Given the description of an element on the screen output the (x, y) to click on. 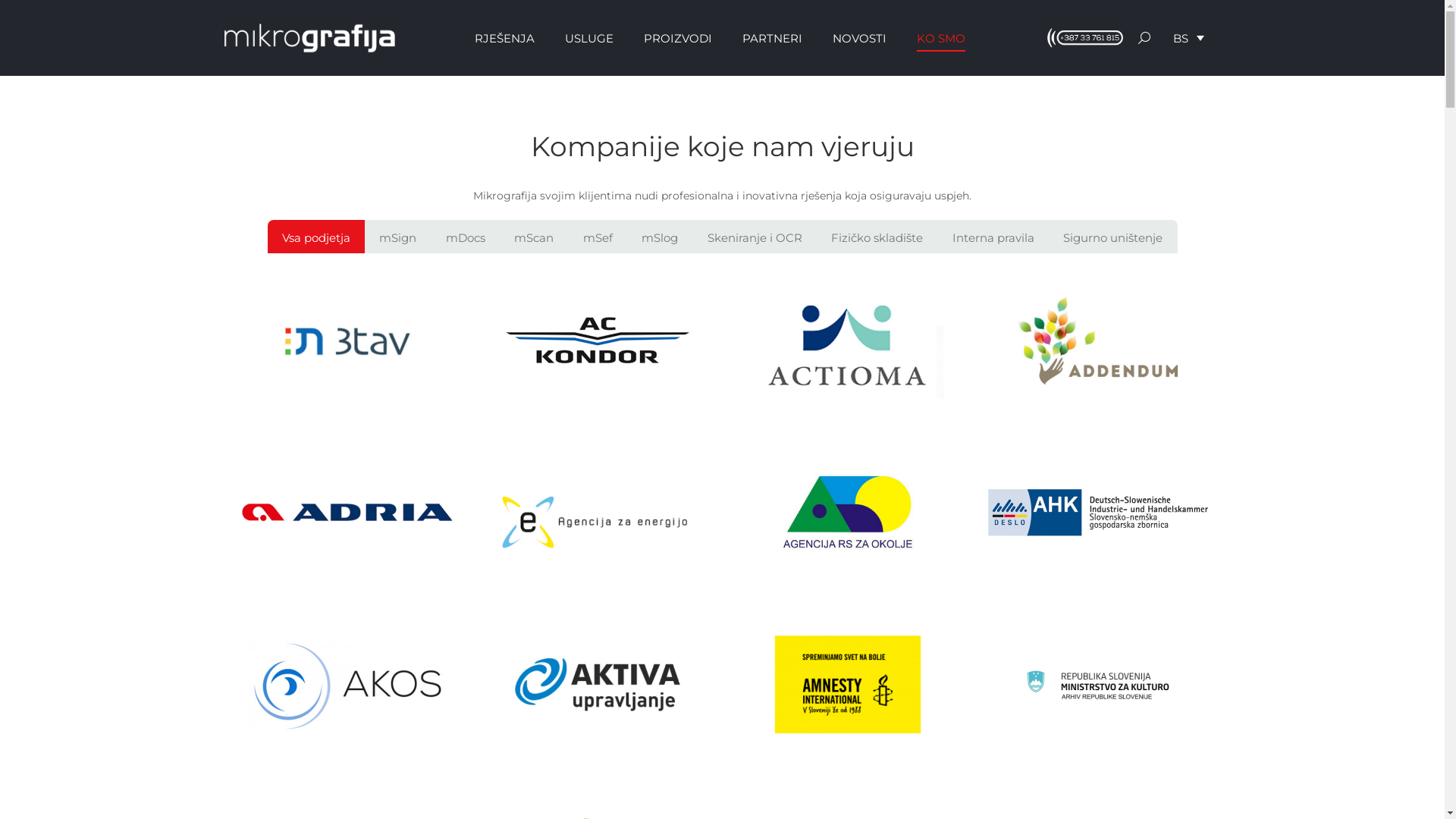
NOVOSTI Element type: text (859, 37)
Vsa podjetja Element type: text (315, 236)
AC Kondor Element type: hover (596, 340)
mSlog Element type: text (660, 236)
AHK Element type: hover (1096, 512)
Arhiv Republike Slovenije Element type: hover (1096, 683)
akos Element type: hover (346, 683)
Go! Element type: text (24, 16)
Skeniranje i OCR Element type: text (755, 236)
Agencija za energijo Element type: hover (596, 512)
PARTNERI Element type: text (771, 37)
Agencija za okolje Element type: hover (846, 512)
PROIZVODI Element type: text (677, 37)
mSign Element type: text (397, 236)
USLUGE Element type: text (588, 37)
Actioma Element type: hover (846, 340)
Adria Element type: hover (346, 512)
mSef Element type: text (597, 236)
KO SMO Element type: text (940, 37)
Aktiva Element type: hover (596, 683)
Addendum Element type: hover (1096, 340)
Interna pravila Element type: text (992, 236)
mDocs Element type: text (464, 236)
mScan Element type: text (533, 236)
BS Element type: text (1187, 37)
3tav Element type: hover (346, 340)
Amnesty international Element type: hover (846, 683)
